Given the description of an element on the screen output the (x, y) to click on. 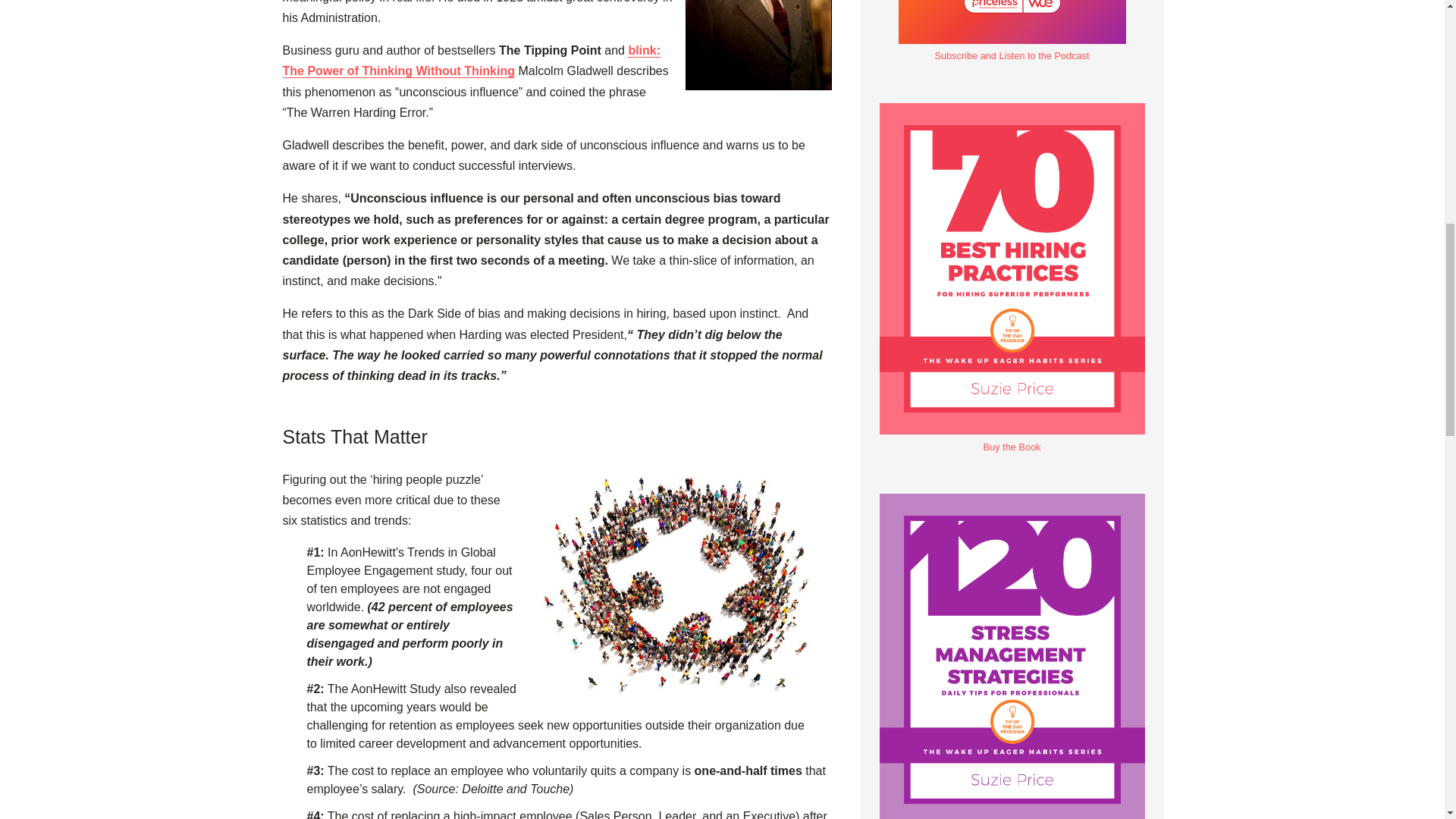
Buy the Book (1011, 439)
conducting successful interviews (758, 45)
blink: The Power of Thinking Without Thinking (471, 60)
Subscribe and Listen to the Podcast (1011, 48)
Buy the Book (1011, 816)
Go to WakeUpEagerWorkforce Podcast Episode Directory (1011, 48)
